Given the description of an element on the screen output the (x, y) to click on. 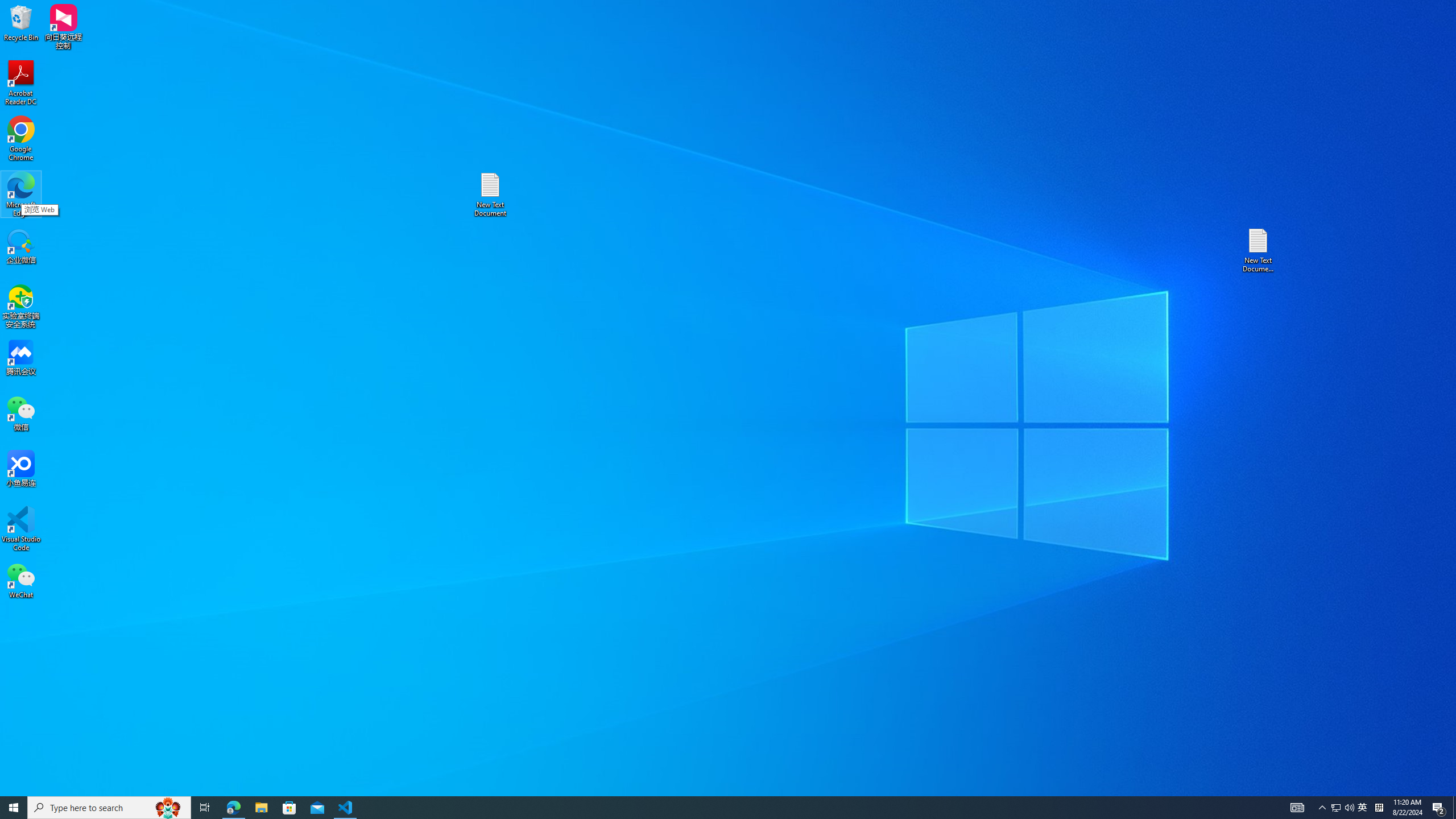
Tray Input Indicator - Chinese (Simplified, China) (1378, 807)
Notification Chevron (1322, 807)
Type here to search (108, 807)
New Text Document (2) (1258, 250)
Recycle Bin (1335, 807)
Visual Studio Code - 1 running window (21, 22)
Show desktop (345, 807)
Visual Studio Code (1454, 807)
Microsoft Edge - 1 running window (21, 528)
Search highlights icon opens search home window (233, 807)
Q2790: 100% (167, 807)
